Given the description of an element on the screen output the (x, y) to click on. 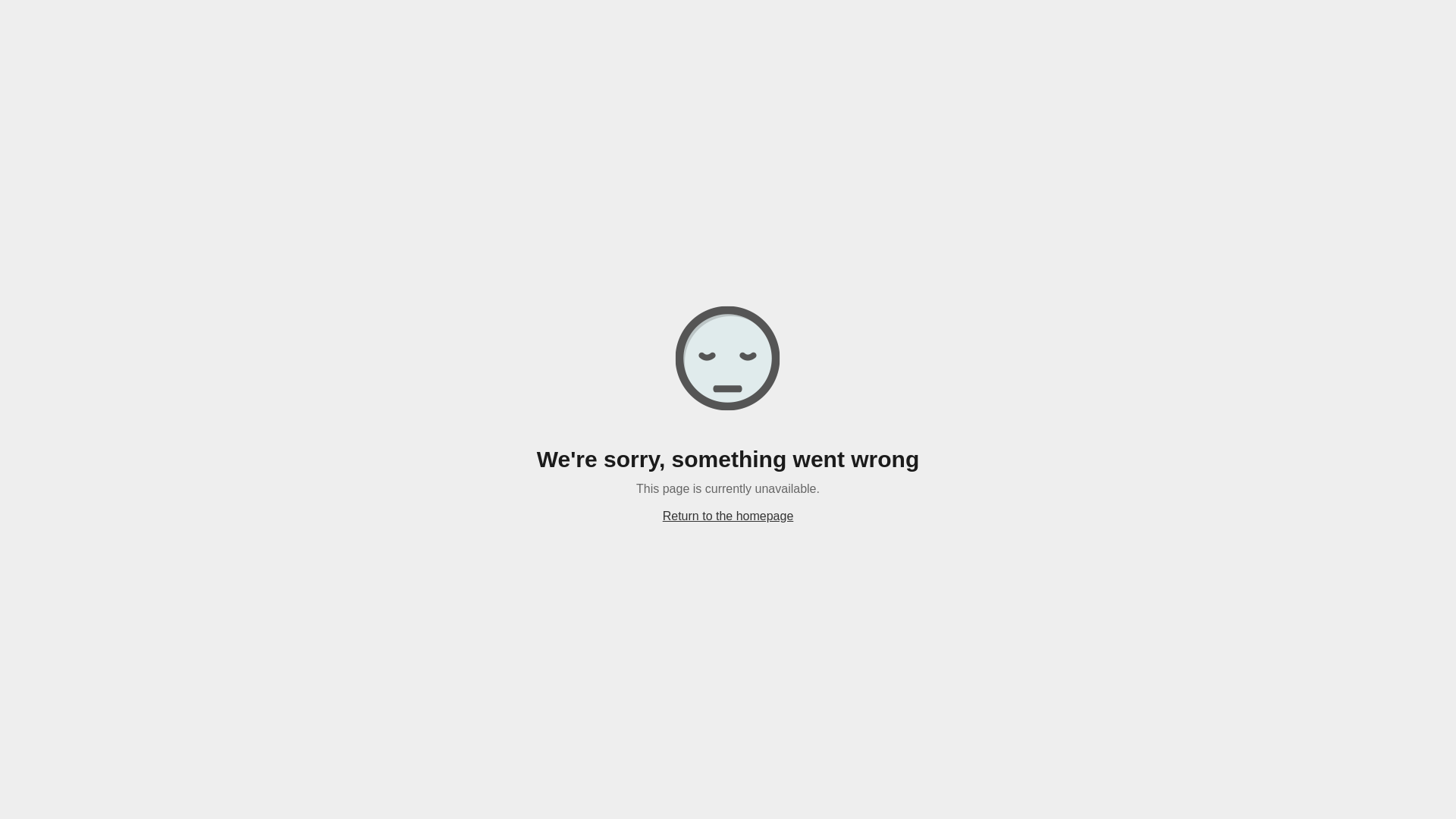
Return to the homepage Element type: text (727, 515)
